Given the description of an element on the screen output the (x, y) to click on. 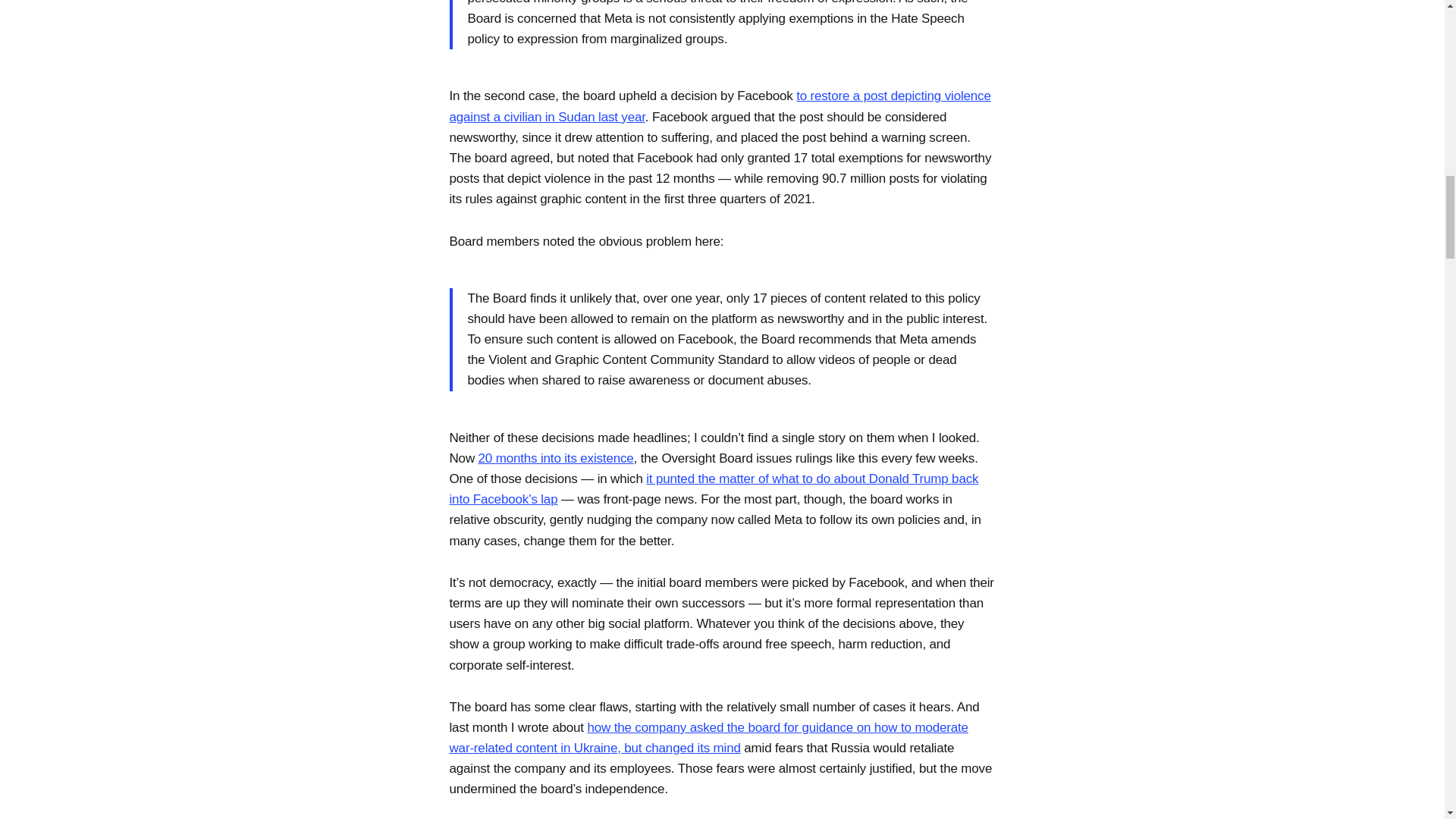
20 months into its existence (556, 458)
